Given the description of an element on the screen output the (x, y) to click on. 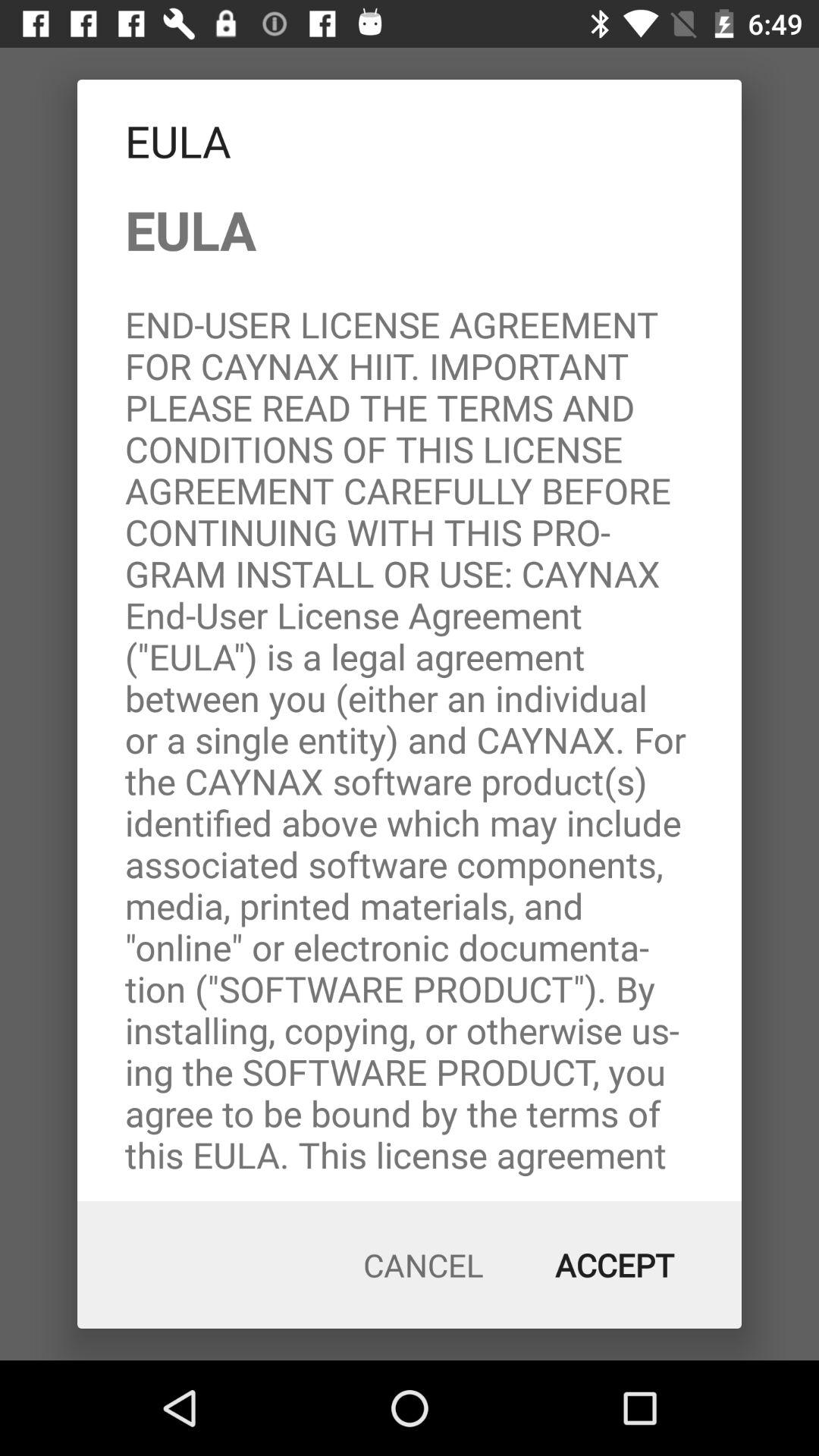
select cancel icon (422, 1264)
